Given the description of an element on the screen output the (x, y) to click on. 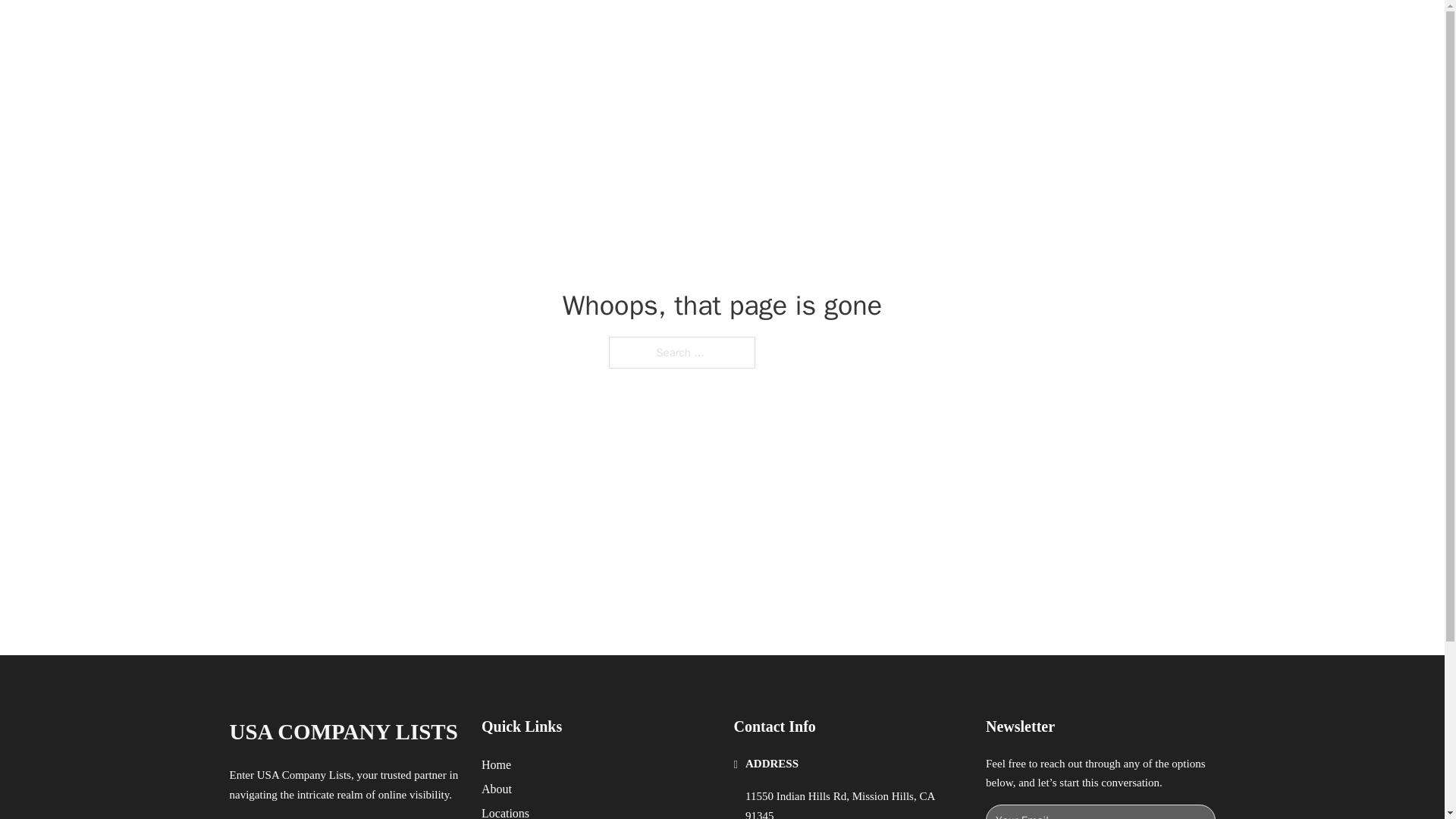
LOCATIONS (990, 29)
About (496, 788)
USA COMPANY LISTS (342, 732)
Home (496, 764)
USA COMPANY LISTS (416, 28)
Locations (505, 811)
HOME (919, 29)
